Given the description of an element on the screen output the (x, y) to click on. 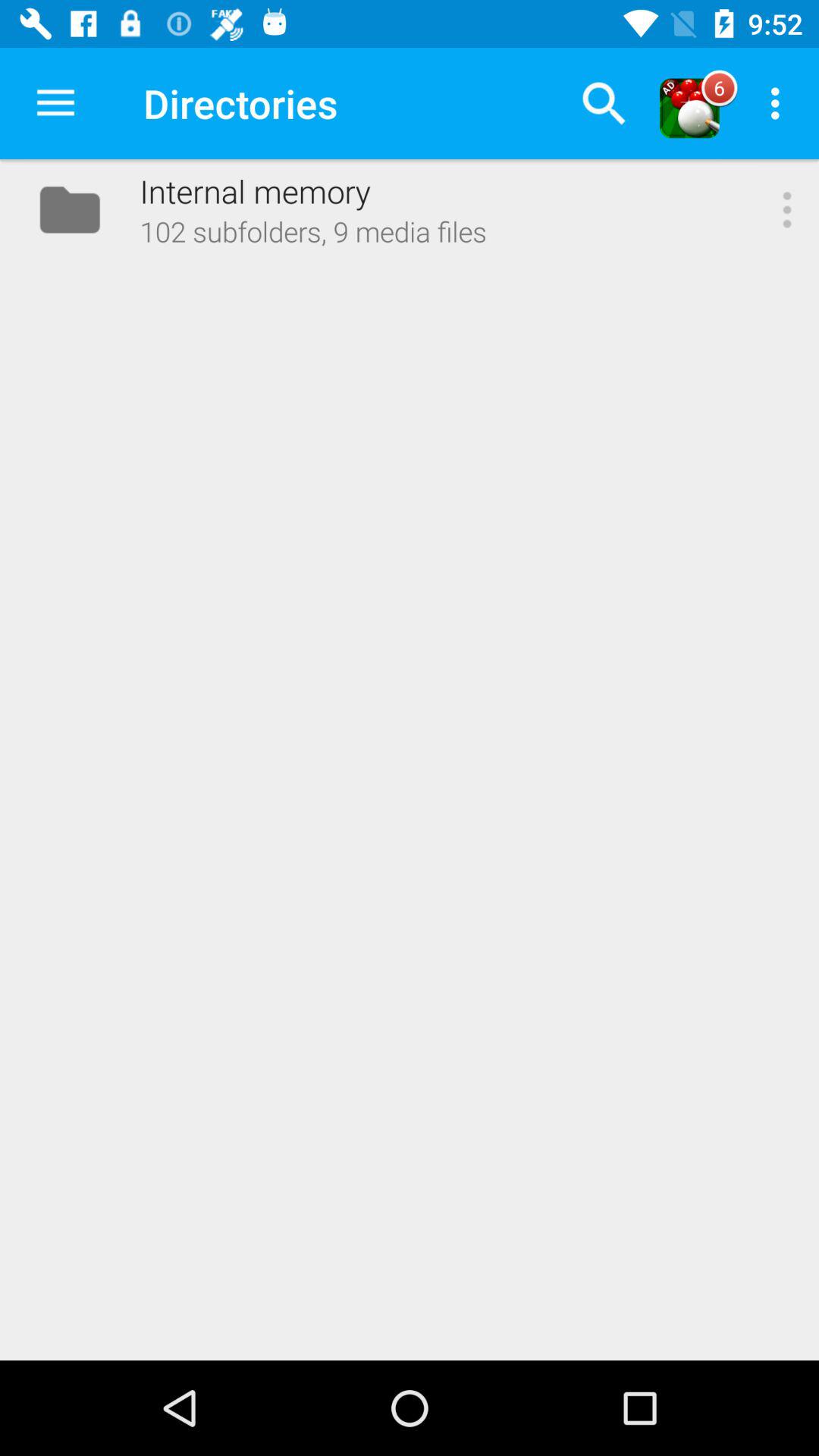
click icon next to the 6 (779, 103)
